Given the description of an element on the screen output the (x, y) to click on. 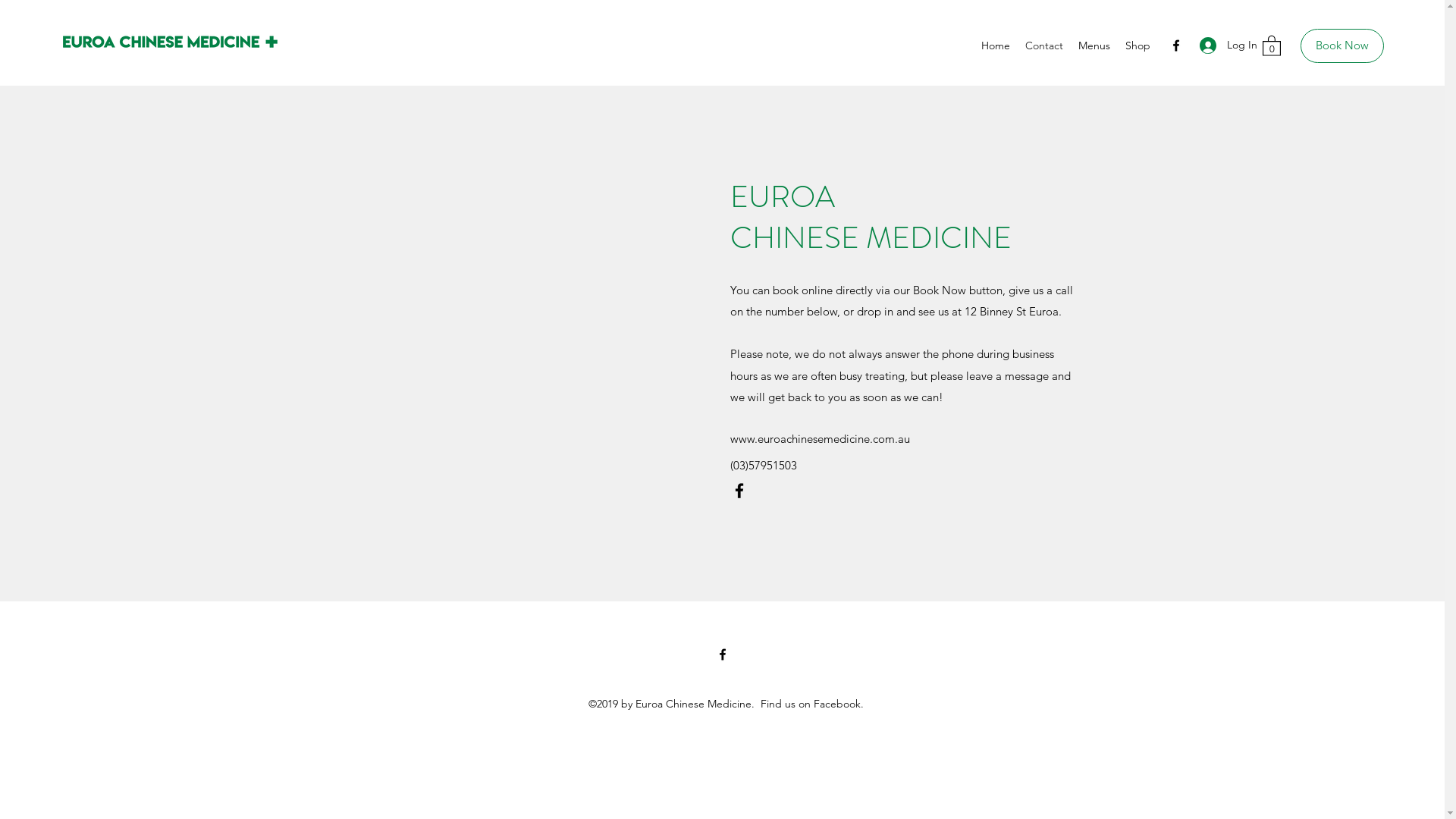
Contact Element type: text (1043, 45)
Home Element type: text (995, 45)
Menus Element type: text (1093, 45)
Shop Element type: text (1137, 45)
Book Now Element type: text (1341, 45)
Google Maps Element type: hover (539, 343)
www.euroachinesemedicine.com.au Element type: text (819, 438)
0 Element type: text (1271, 45)
Log In Element type: text (1223, 45)
